Given the description of an element on the screen output the (x, y) to click on. 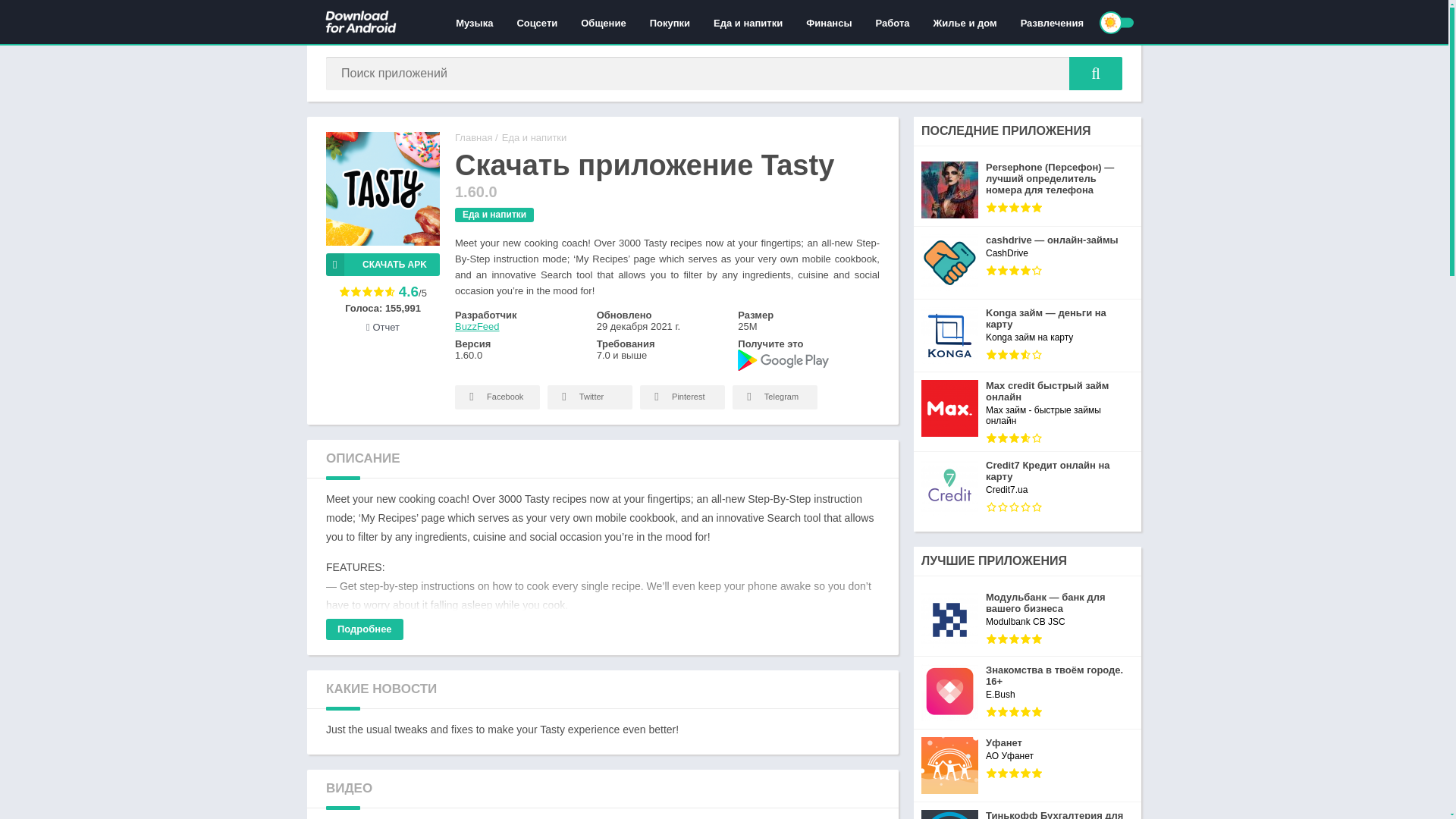
Pinterest (682, 396)
Twitter (589, 396)
BuzzFeed (476, 326)
Facebook (497, 396)
Telegram (774, 396)
Download for Android (473, 137)
